Given the description of an element on the screen output the (x, y) to click on. 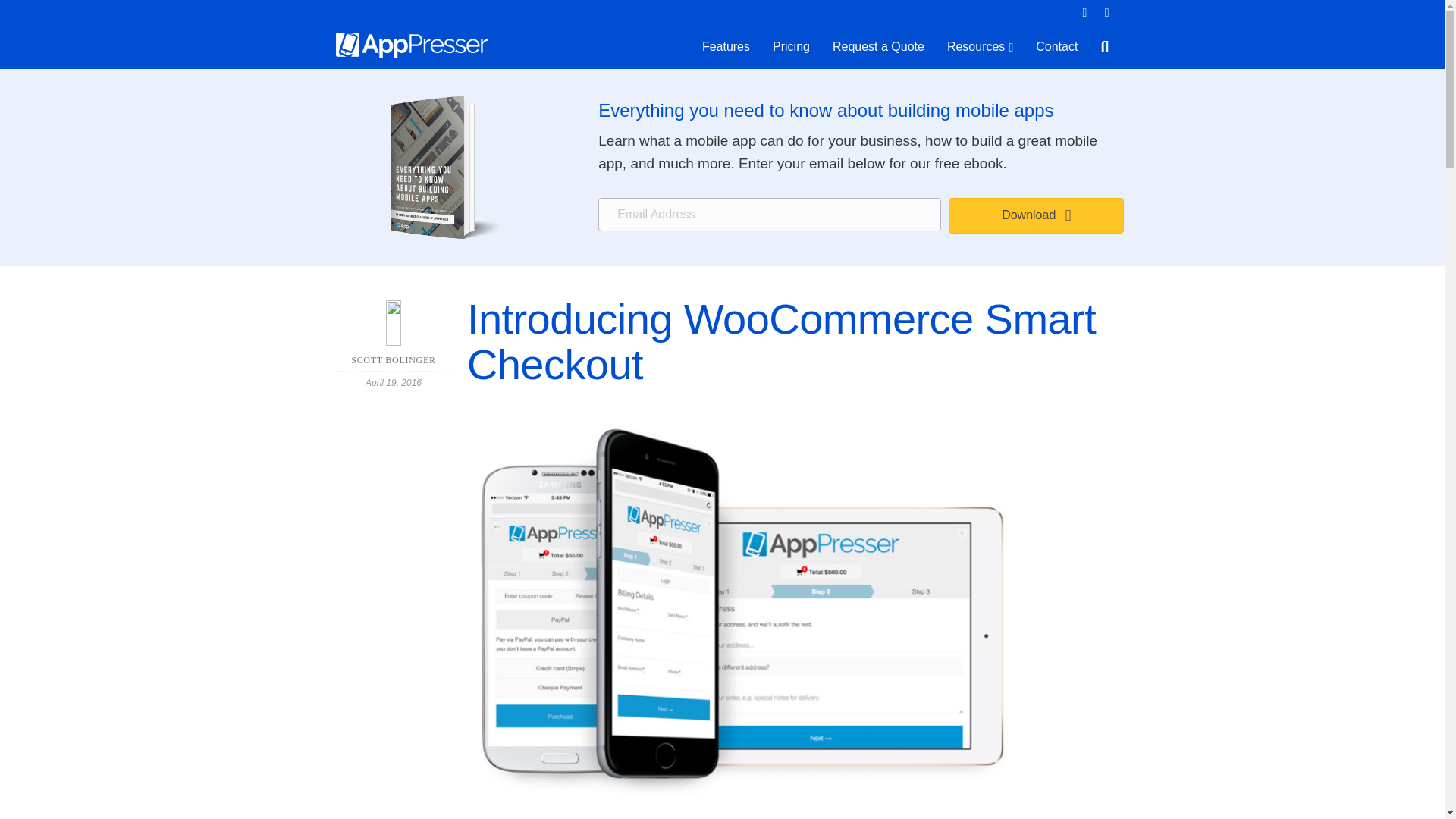
Contact (1057, 46)
Features (725, 46)
Pricing (791, 46)
Request a Quote (878, 46)
Account (1106, 13)
Download (1036, 215)
Resources (980, 46)
Cart (1084, 13)
